Given the description of an element on the screen output the (x, y) to click on. 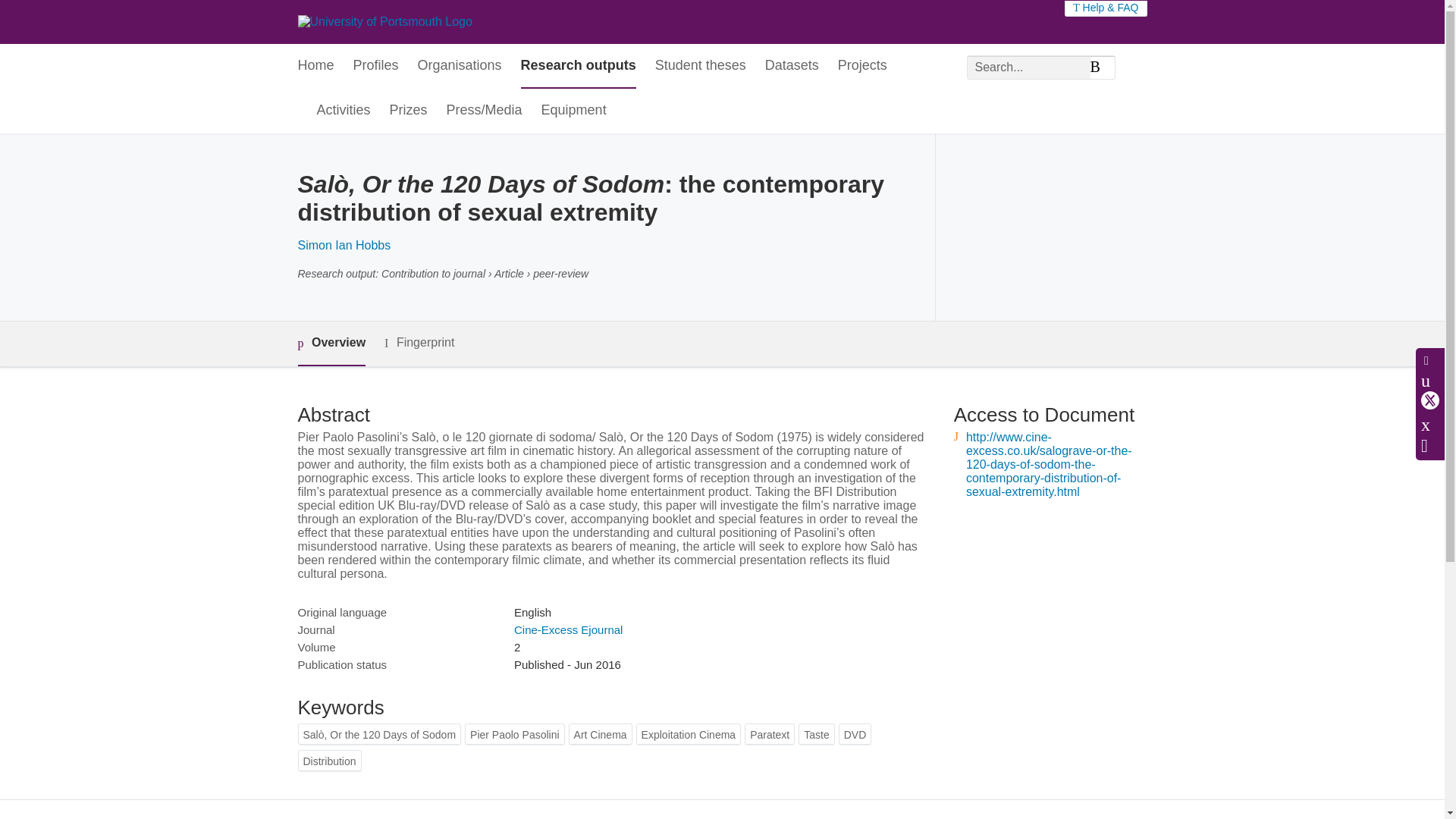
Organisations (459, 66)
Equipment (574, 110)
University of Portsmouth Home (384, 21)
Cine-Excess Ejournal (568, 629)
Fingerprint (419, 342)
Simon Ian Hobbs (343, 245)
Student theses (700, 66)
Research outputs (578, 66)
Activities (344, 110)
Datasets (791, 66)
